Given the description of an element on the screen output the (x, y) to click on. 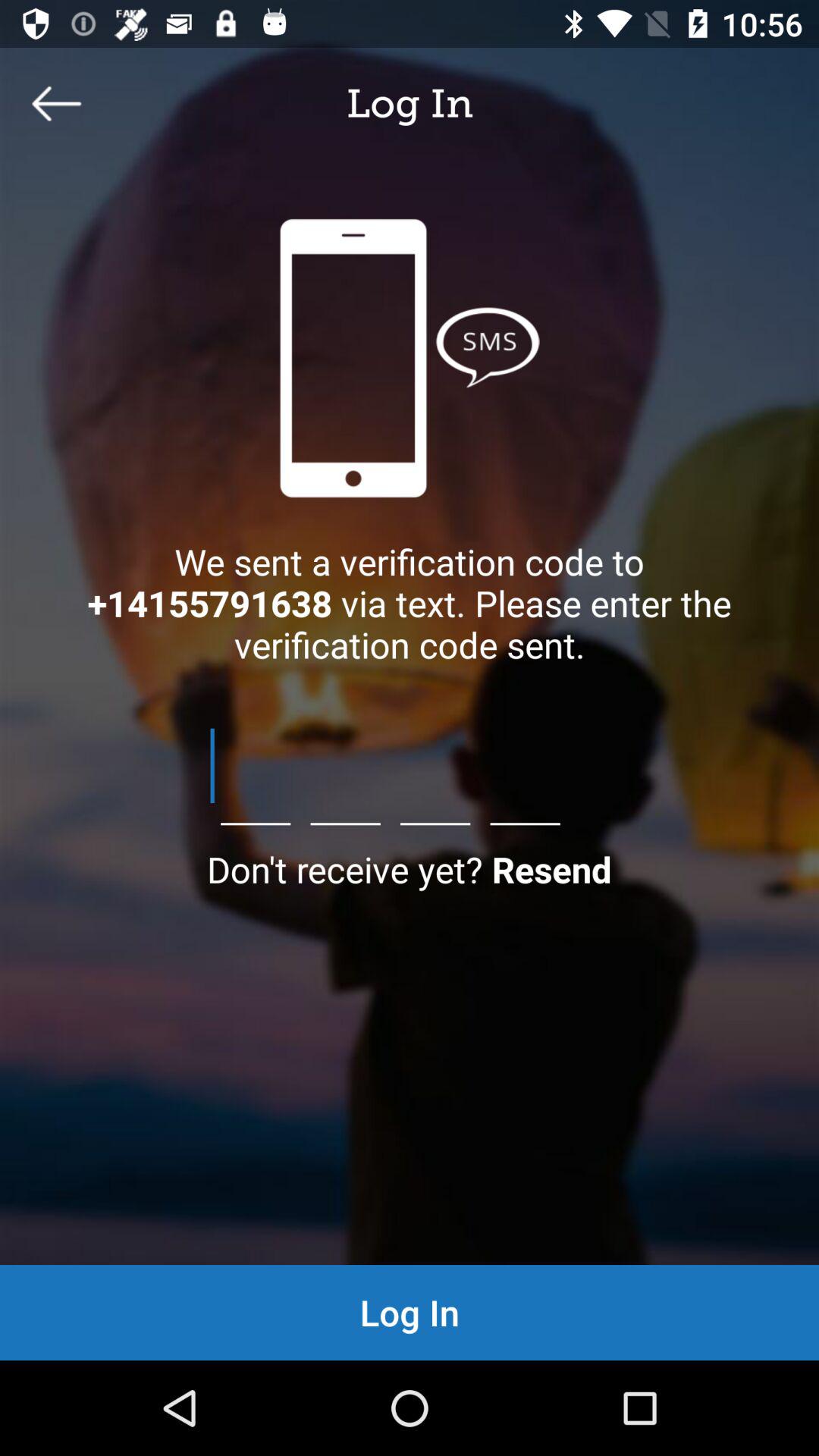
verification code (409, 765)
